Given the description of an element on the screen output the (x, y) to click on. 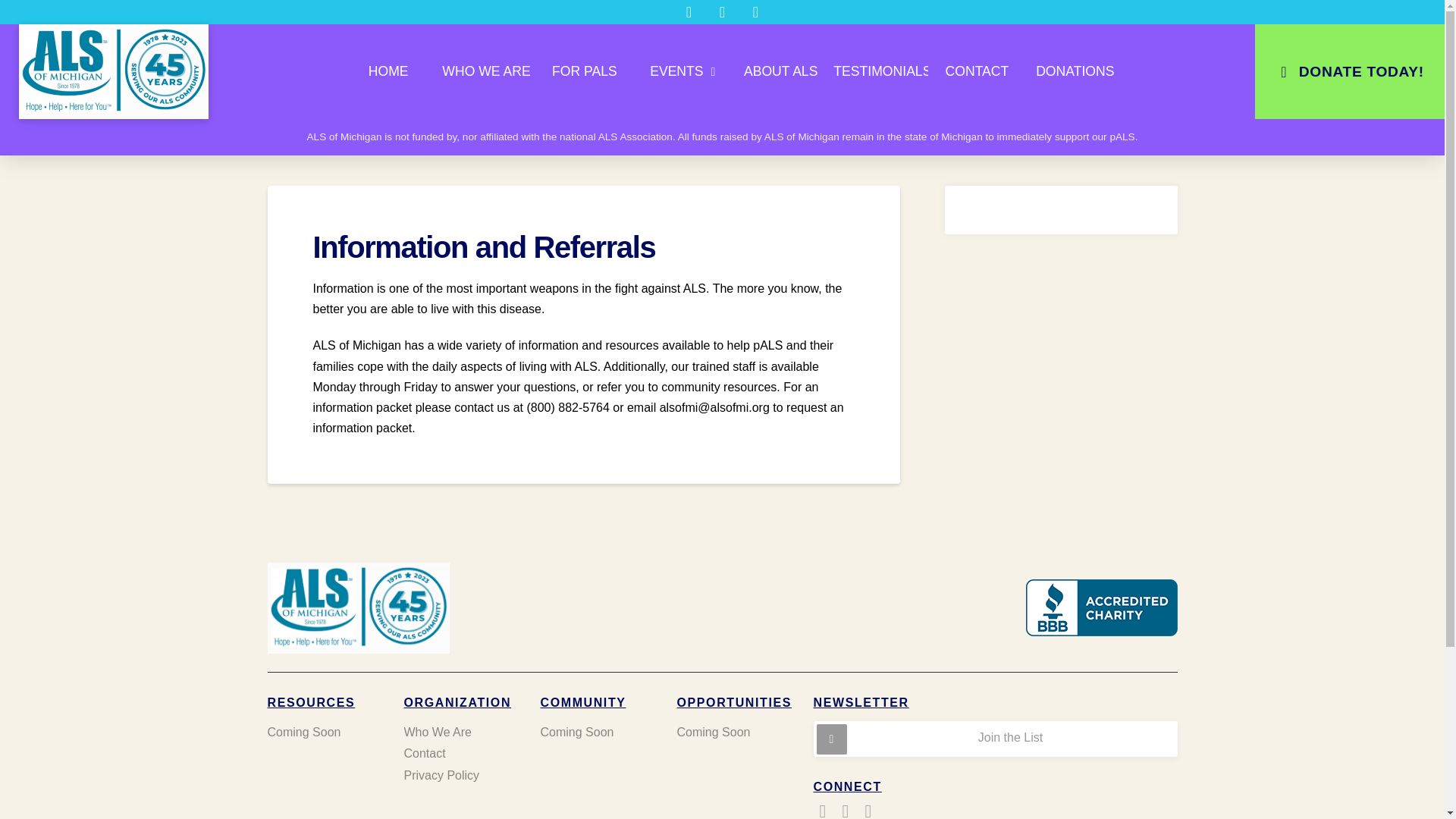
ALS of Michigan BBB Charity Seal (1100, 608)
Coming Soon (322, 731)
Who We Are (459, 731)
CONTACT (977, 71)
Contact (459, 753)
HOME (387, 71)
Coming Soon (733, 731)
WHO WE ARE (486, 71)
Privacy Policy (459, 775)
EVENTS (682, 71)
TESTIMONIALS (878, 71)
FOR PALS (584, 71)
ABOUT ALS (780, 71)
Coming Soon (596, 731)
DONATIONS (1075, 71)
